Given the description of an element on the screen output the (x, y) to click on. 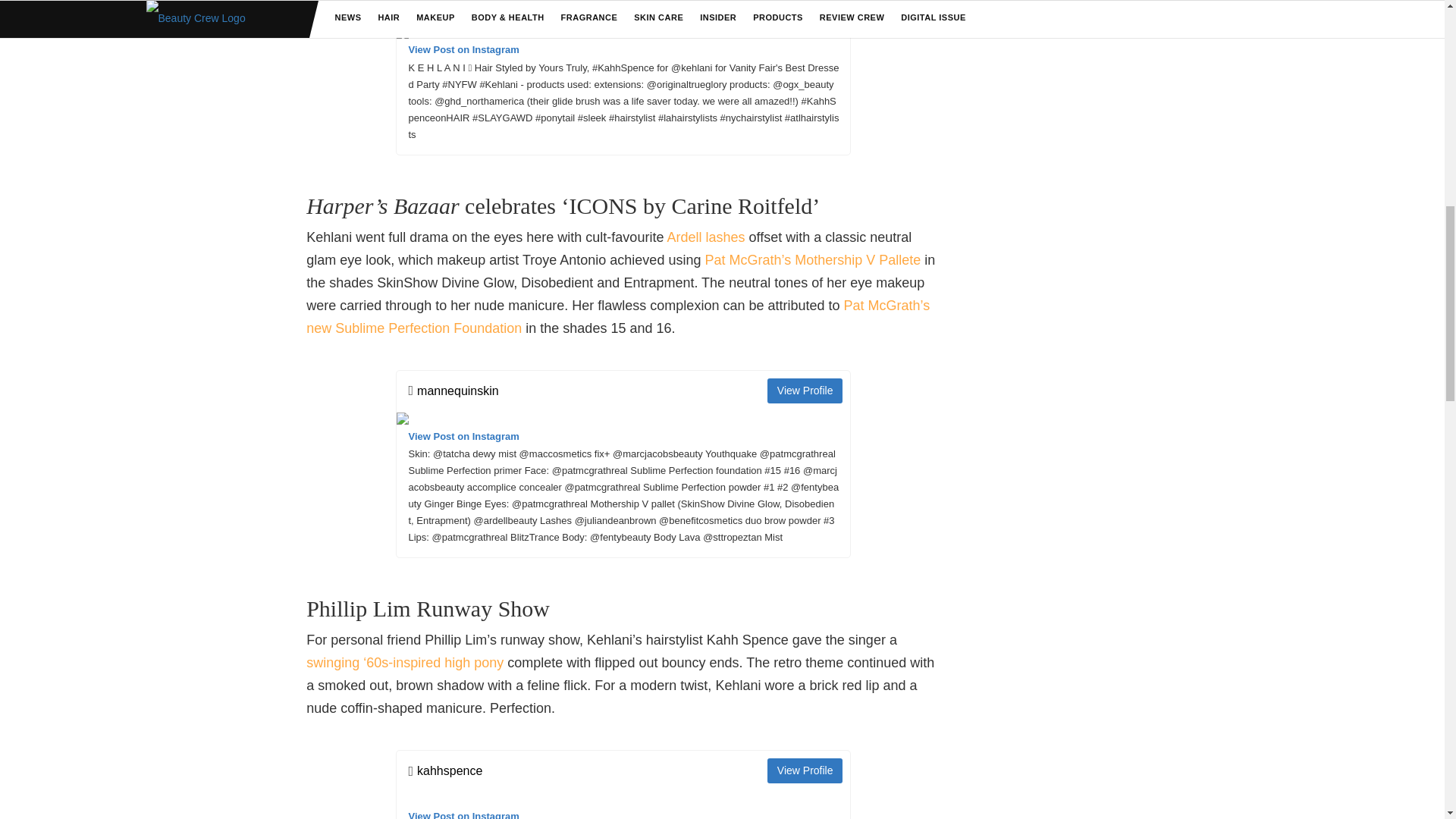
BeautyCrew (404, 662)
Sephora (617, 316)
Priceline (705, 237)
Sephora (812, 259)
